Given the description of an element on the screen output the (x, y) to click on. 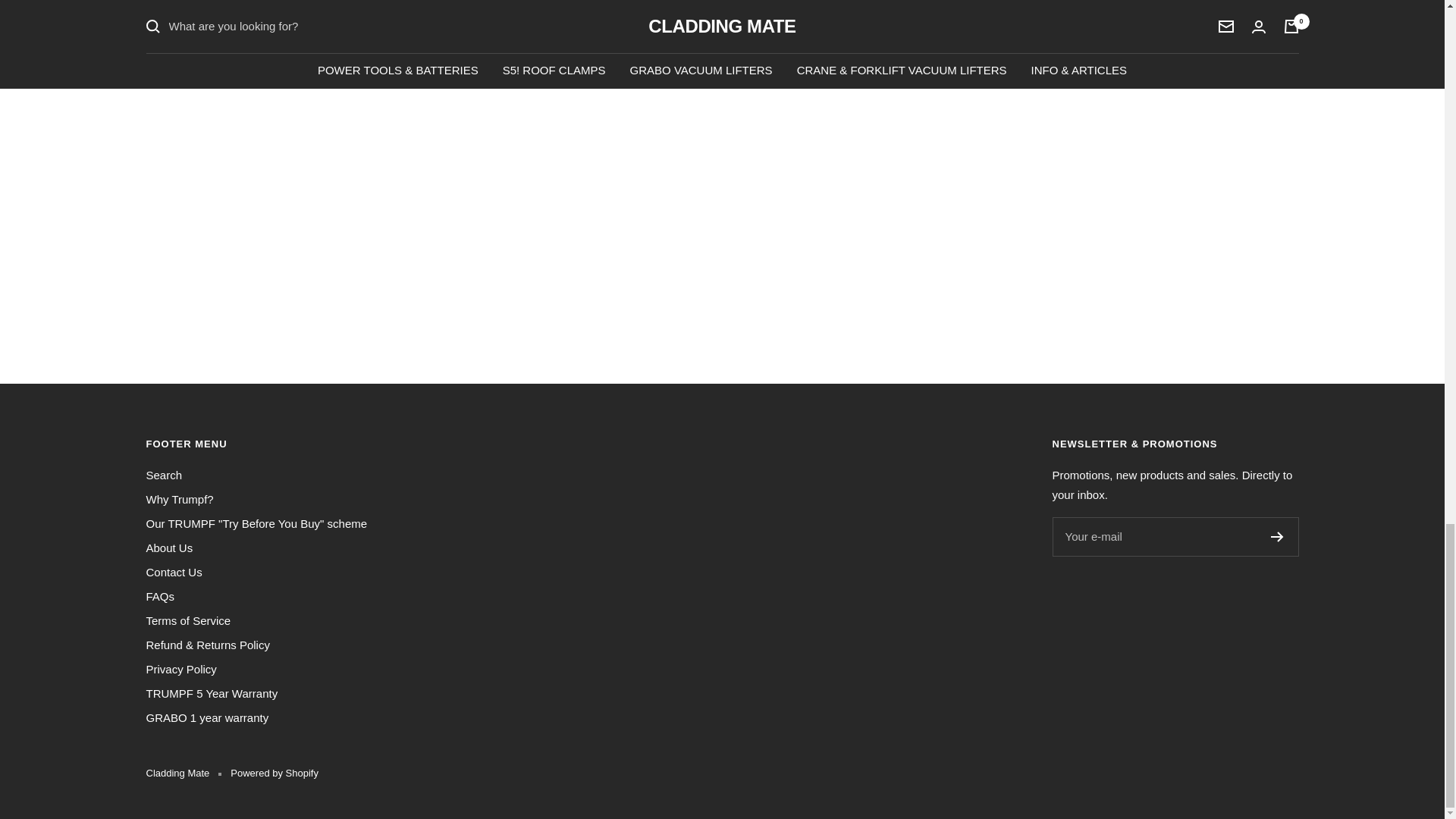
Register (1277, 536)
